Given the description of an element on the screen output the (x, y) to click on. 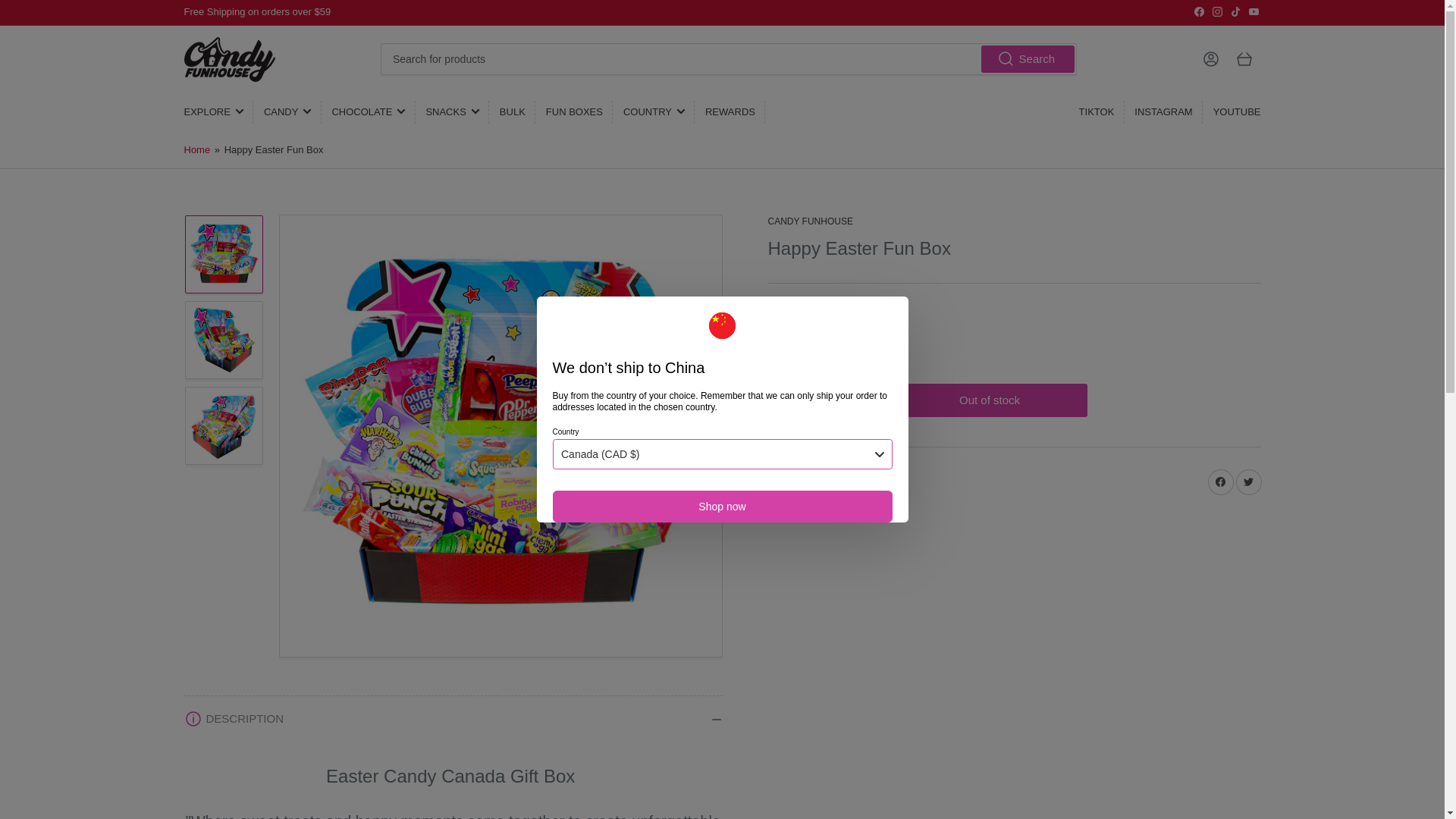
Shop now (721, 506)
Search (1027, 58)
Instagram (1216, 11)
Candy Funhouse (809, 220)
1 (825, 400)
Log in (1210, 59)
Open mini cart (1243, 59)
Facebook (1199, 11)
YouTube (1253, 11)
TikTok (1235, 11)
